Given the description of an element on the screen output the (x, y) to click on. 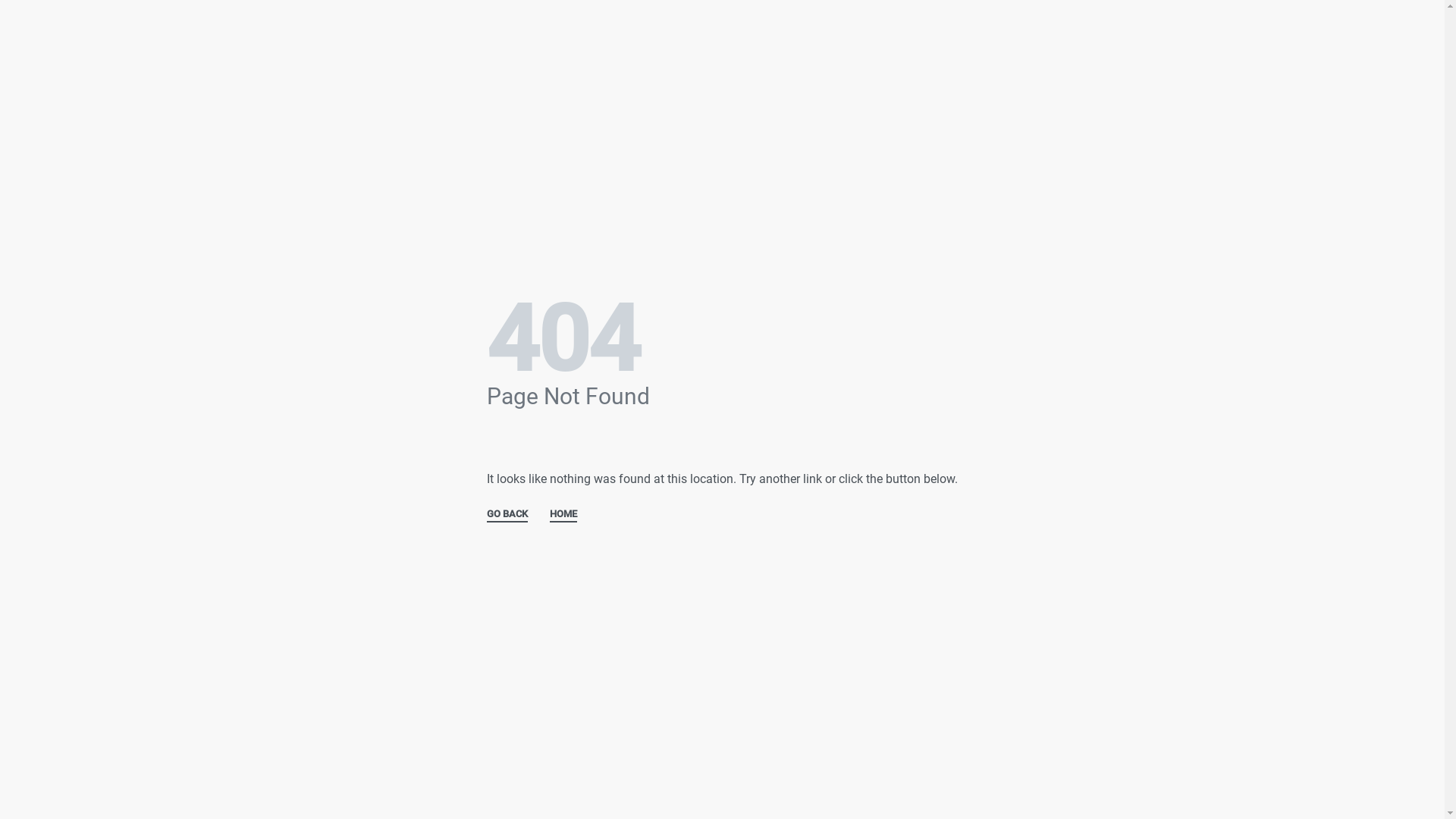
GO BACK Element type: text (506, 515)
HOME Element type: text (563, 515)
